Given the description of an element on the screen output the (x, y) to click on. 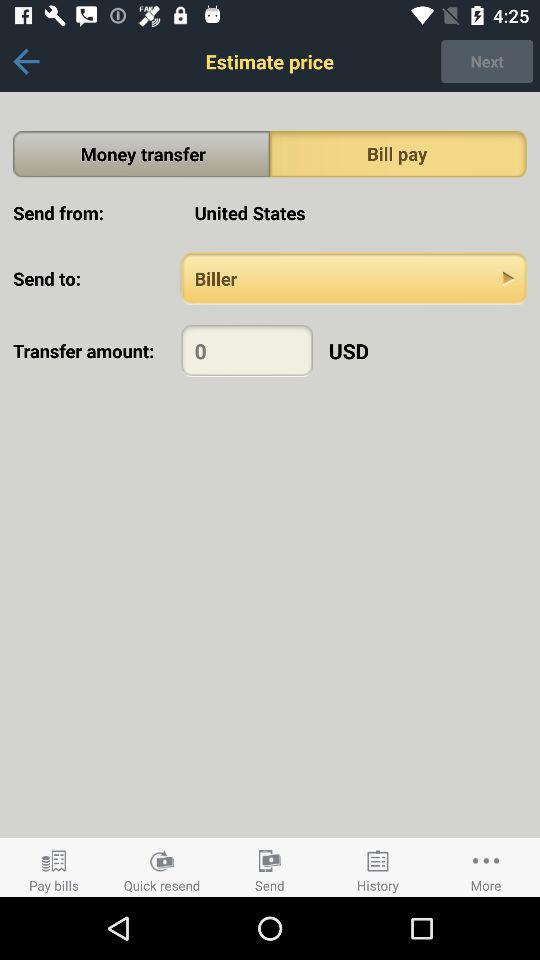
send to selection (353, 278)
